Given the description of an element on the screen output the (x, y) to click on. 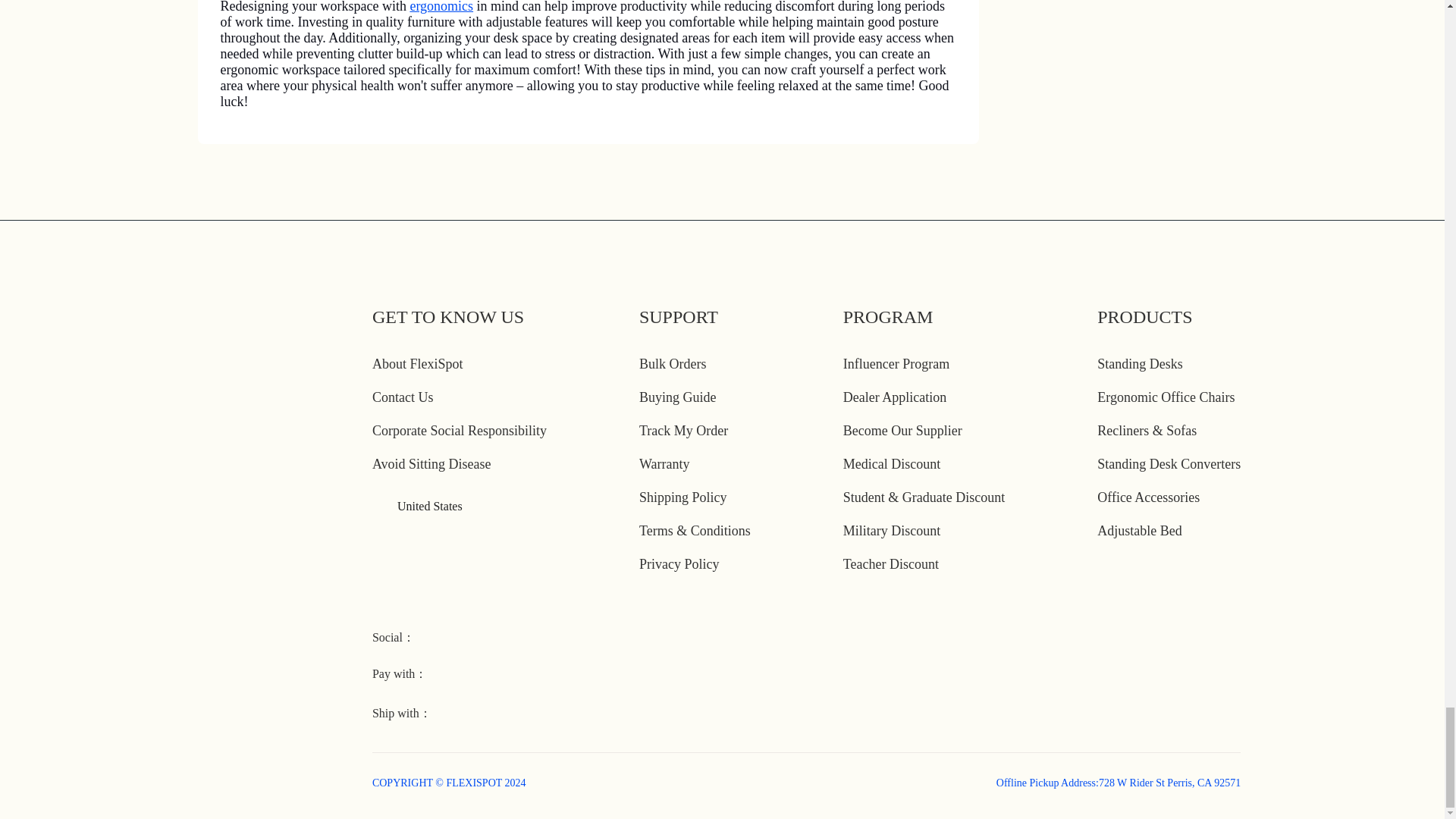
About FlexiSpot (417, 363)
Shipping Policy (682, 497)
Contact Us (402, 396)
Warranty (664, 463)
Track My Order (683, 430)
Standing Desks (1139, 363)
Avoid Sitting Disease (432, 463)
Influencer Program (896, 363)
Privacy Policy (679, 563)
Bulk Orders (672, 363)
